Given the description of an element on the screen output the (x, y) to click on. 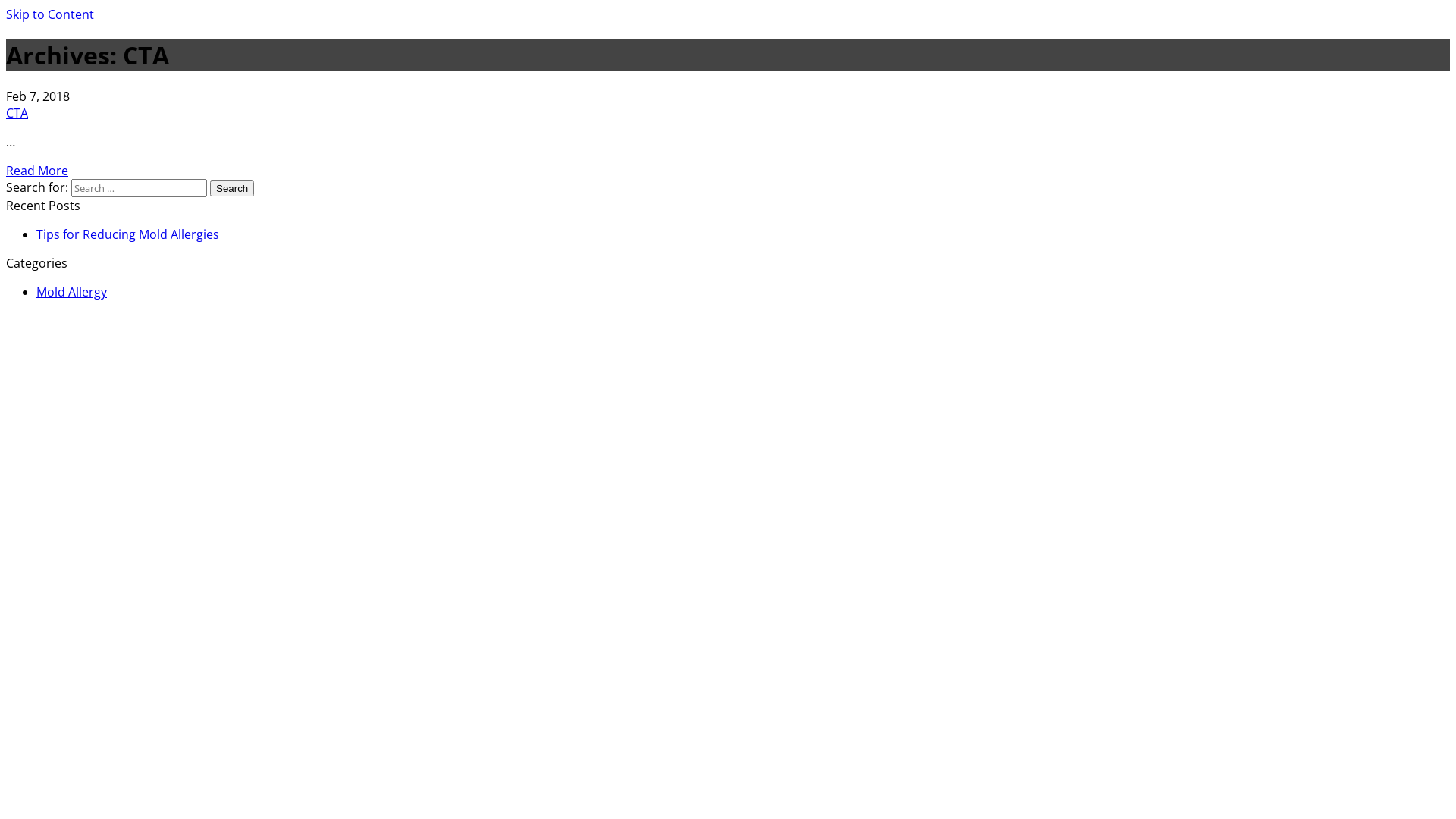
Read More Element type: text (37, 170)
CTA Element type: text (17, 112)
Tips for Reducing Mold Allergies Element type: text (127, 233)
Search Element type: text (232, 188)
Skip to Content Element type: text (50, 14)
Mold Allergy Element type: text (71, 291)
